Given the description of an element on the screen output the (x, y) to click on. 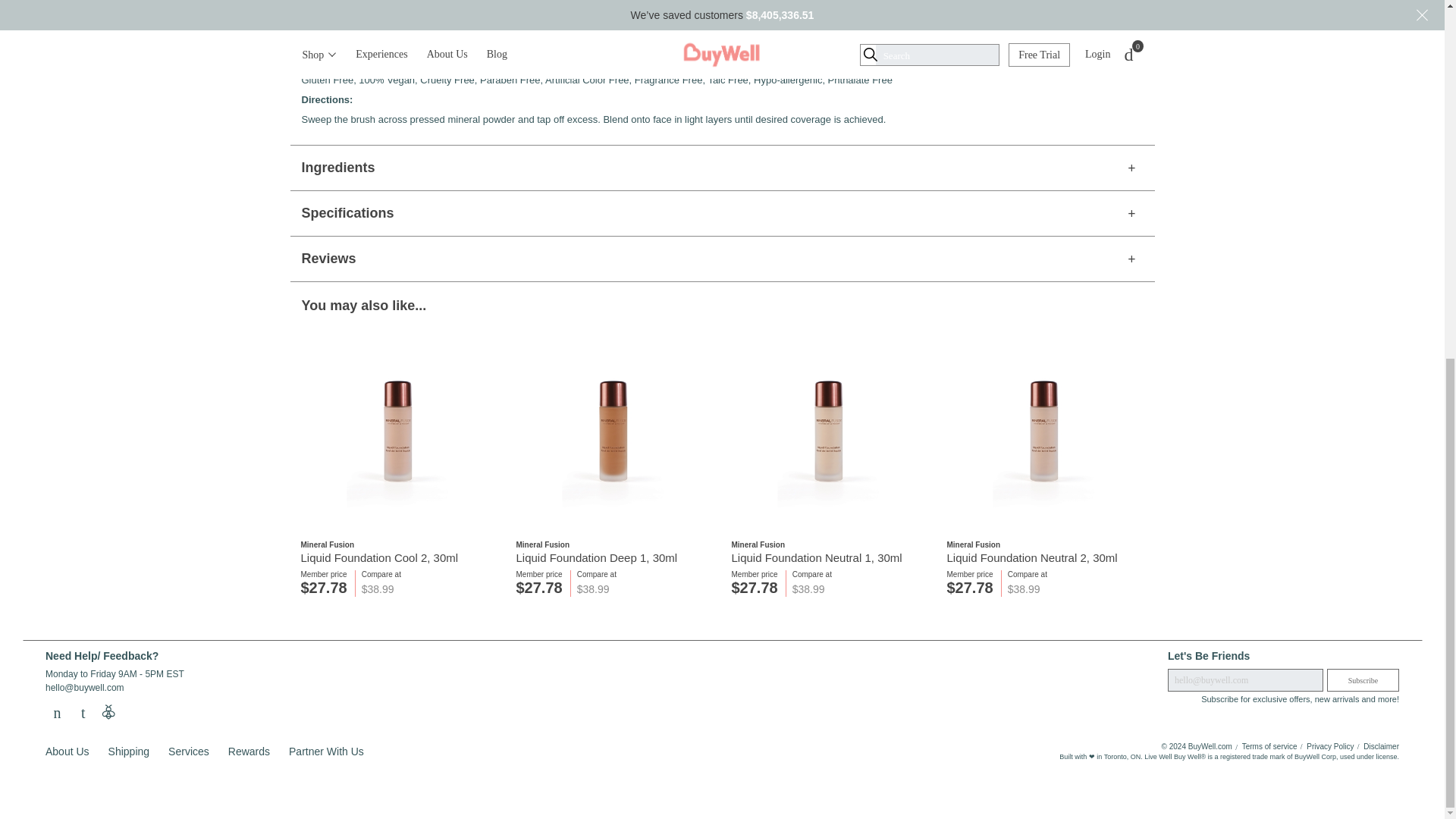
Show details for  Liquid Foundation Cool 2, 30ml (397, 430)
Show details for  Liquid Foundation Deep 1, 30ml (612, 430)
